Given the description of an element on the screen output the (x, y) to click on. 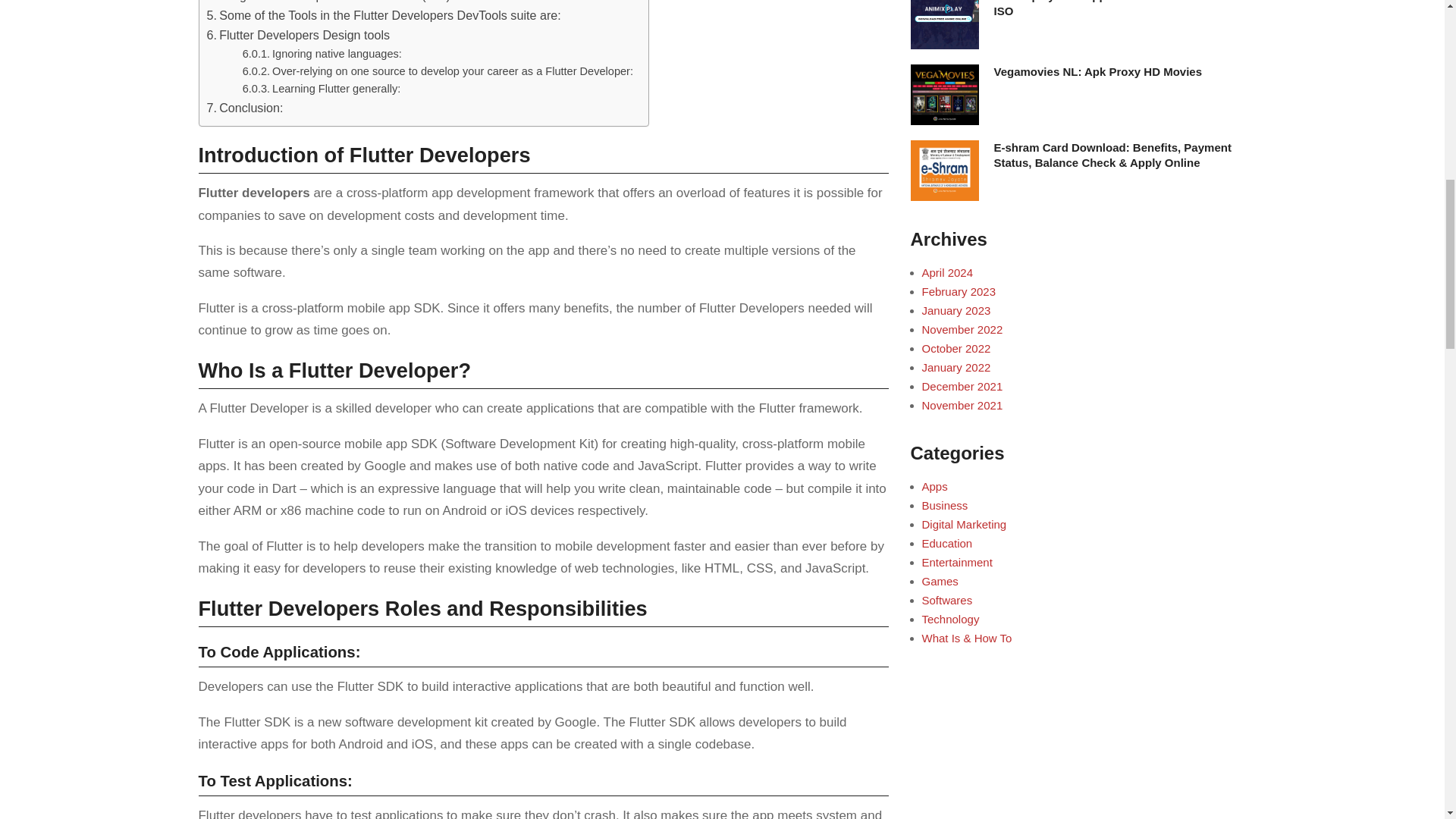
Learning Flutter generally: (322, 88)
Flutter Developers Design tools (298, 35)
Ignoring native languages: (322, 54)
Conclusion: (244, 107)
